Given the description of an element on the screen output the (x, y) to click on. 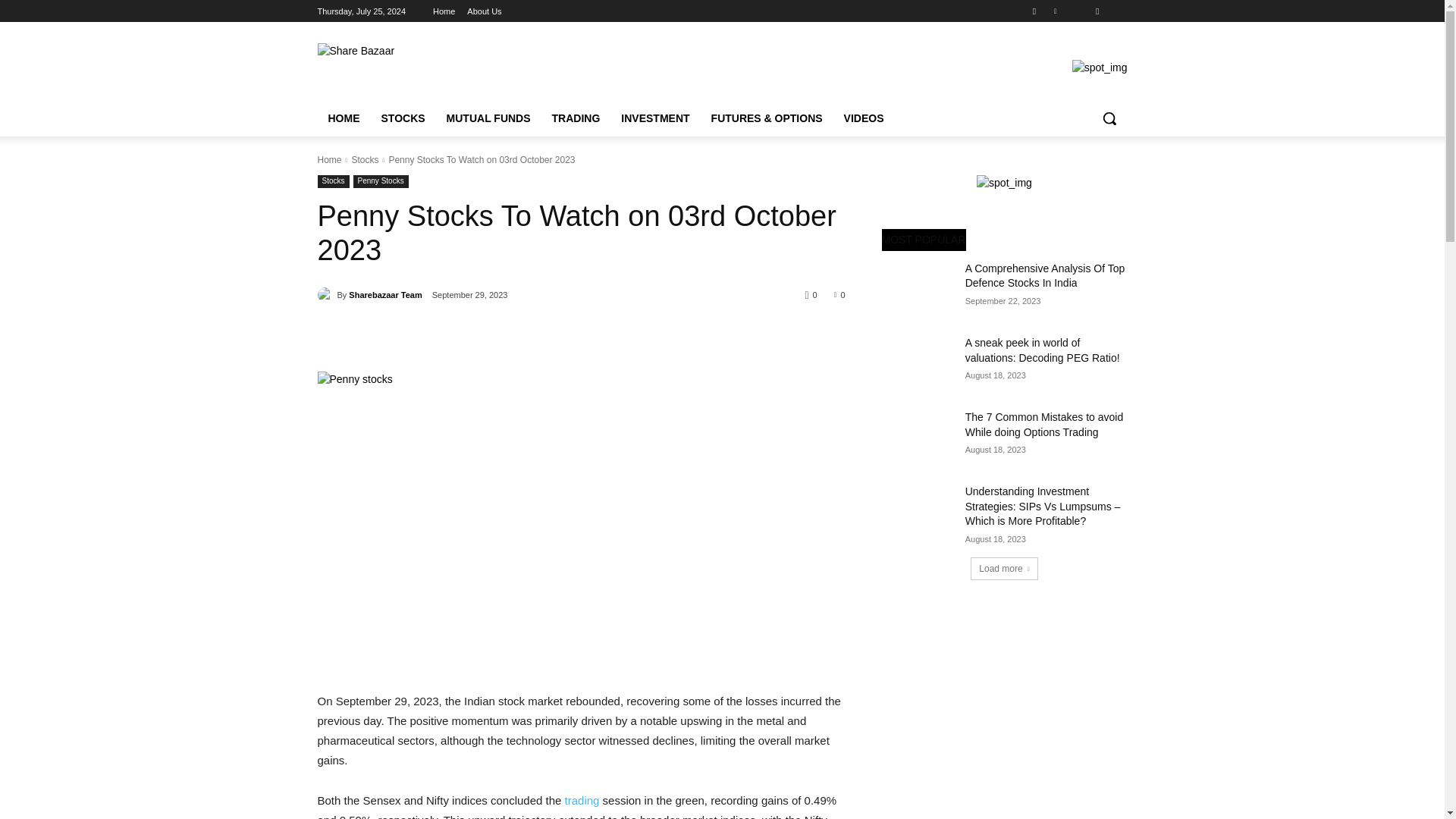
Instagram (1034, 11)
Twitter (1055, 11)
Google News (1117, 11)
View all posts in Stocks (364, 159)
Sharebazaar Team (326, 294)
TRADING (576, 117)
Home (443, 11)
INVESTMENT (655, 117)
Home (328, 159)
HOME (343, 117)
Stocks (364, 159)
STOCKS (402, 117)
VIDEOS (863, 117)
About Us (483, 11)
Stocks (333, 181)
